Given the description of an element on the screen output the (x, y) to click on. 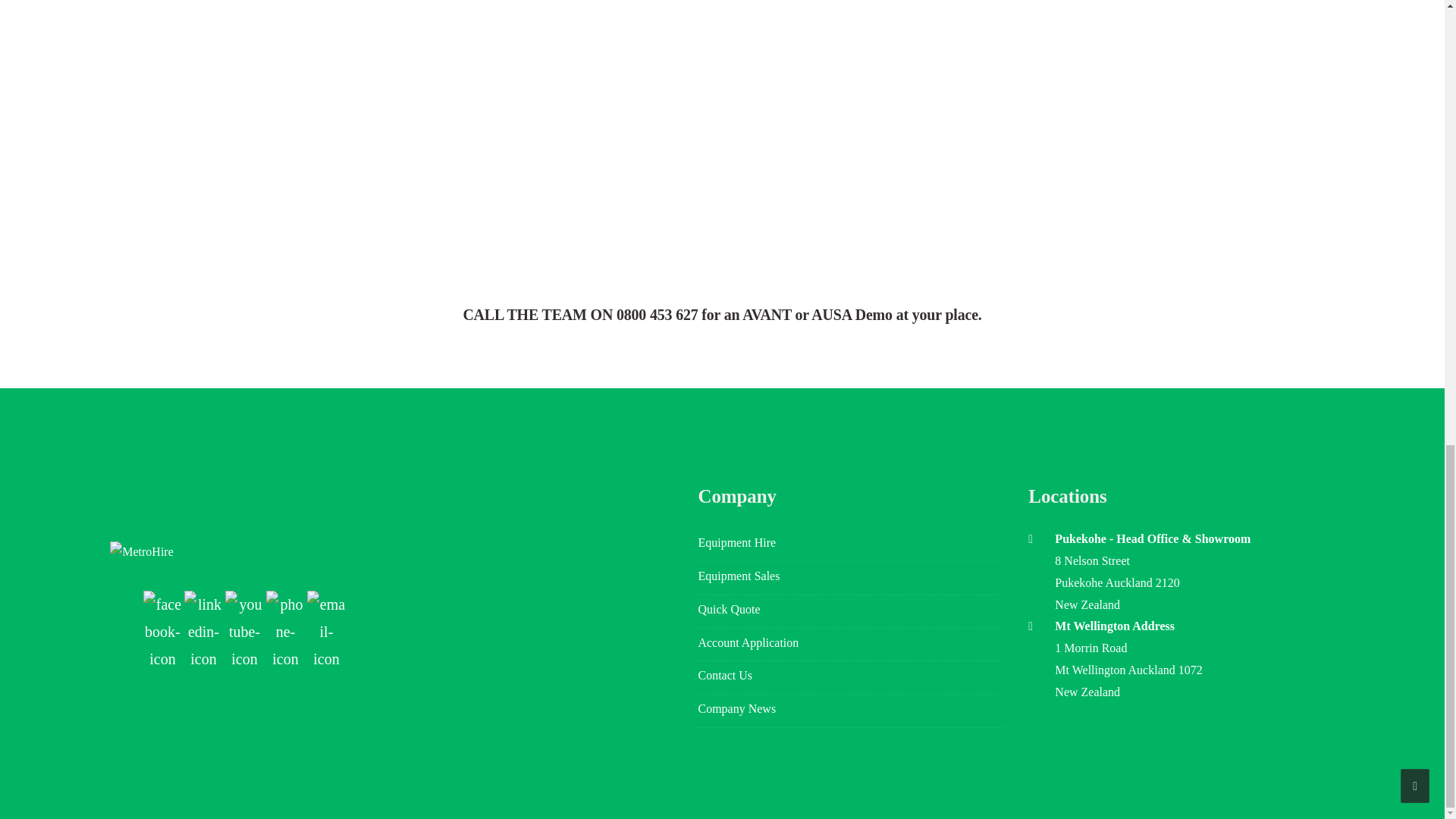
Account Application (850, 644)
Company News (850, 711)
Contact Us (850, 677)
Equipment Sales (850, 578)
Equipment Hire (850, 544)
Quick Quote (850, 611)
